Given the description of an element on the screen output the (x, y) to click on. 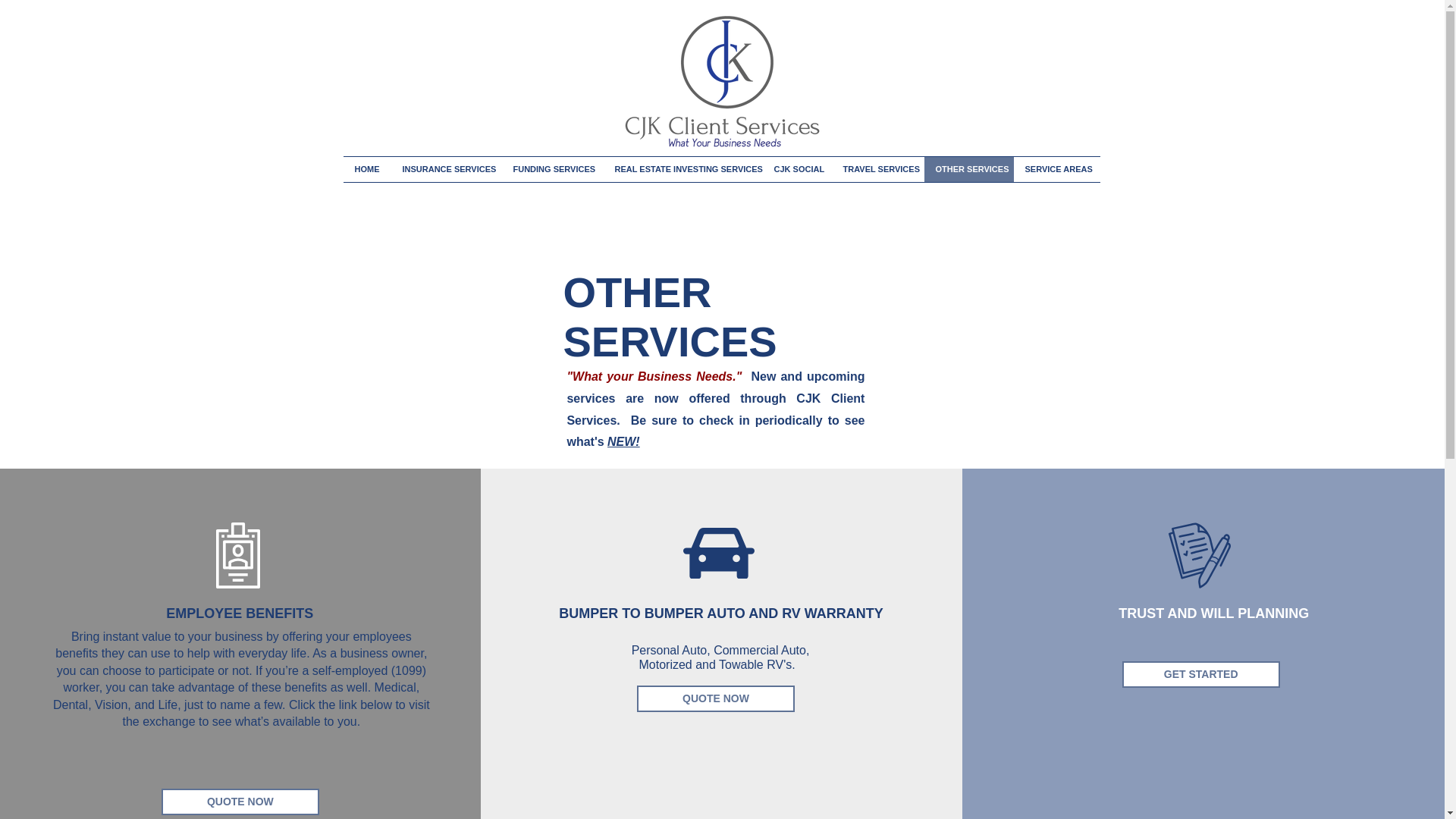
OTHER SERVICES (968, 169)
QUOTE NOW (715, 698)
INSURANCE SERVICES (446, 169)
UPLogo.jpg (721, 82)
REAL ESTATE INVESTING SERVICES (683, 169)
QUOTE NOW (239, 801)
CJK SOCIAL (796, 169)
FUNDING SERVICES (553, 169)
GET STARTED (1200, 673)
SERVICE AREAS (1055, 169)
